Given the description of an element on the screen output the (x, y) to click on. 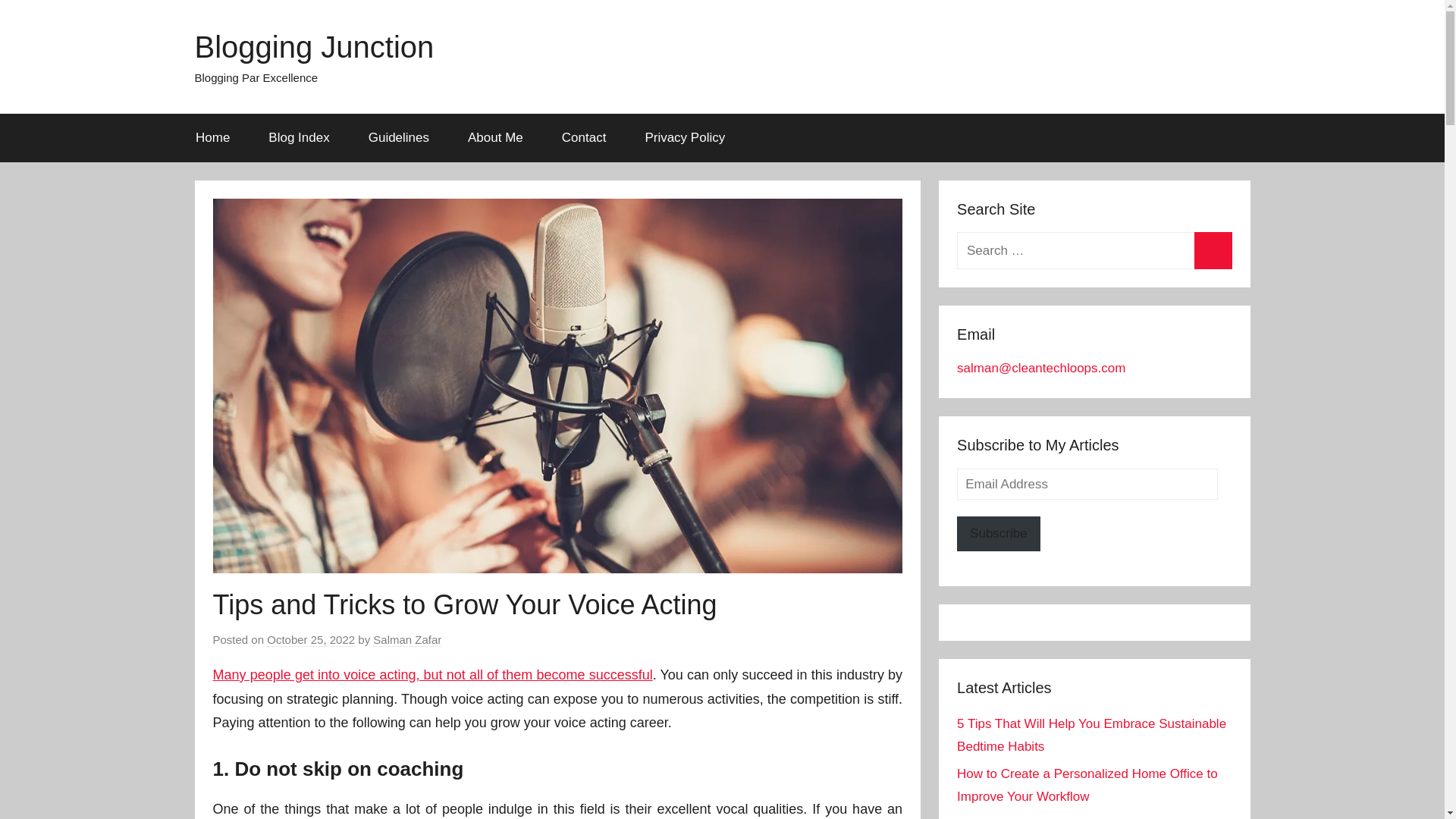
October 25, 2022 (310, 640)
Home (212, 137)
Privacy Policy (685, 137)
Guidelines (398, 137)
Blogging Junction (313, 46)
Salman Zafar (406, 640)
View all posts by Salman Zafar (406, 640)
About Me (495, 137)
